Given the description of an element on the screen output the (x, y) to click on. 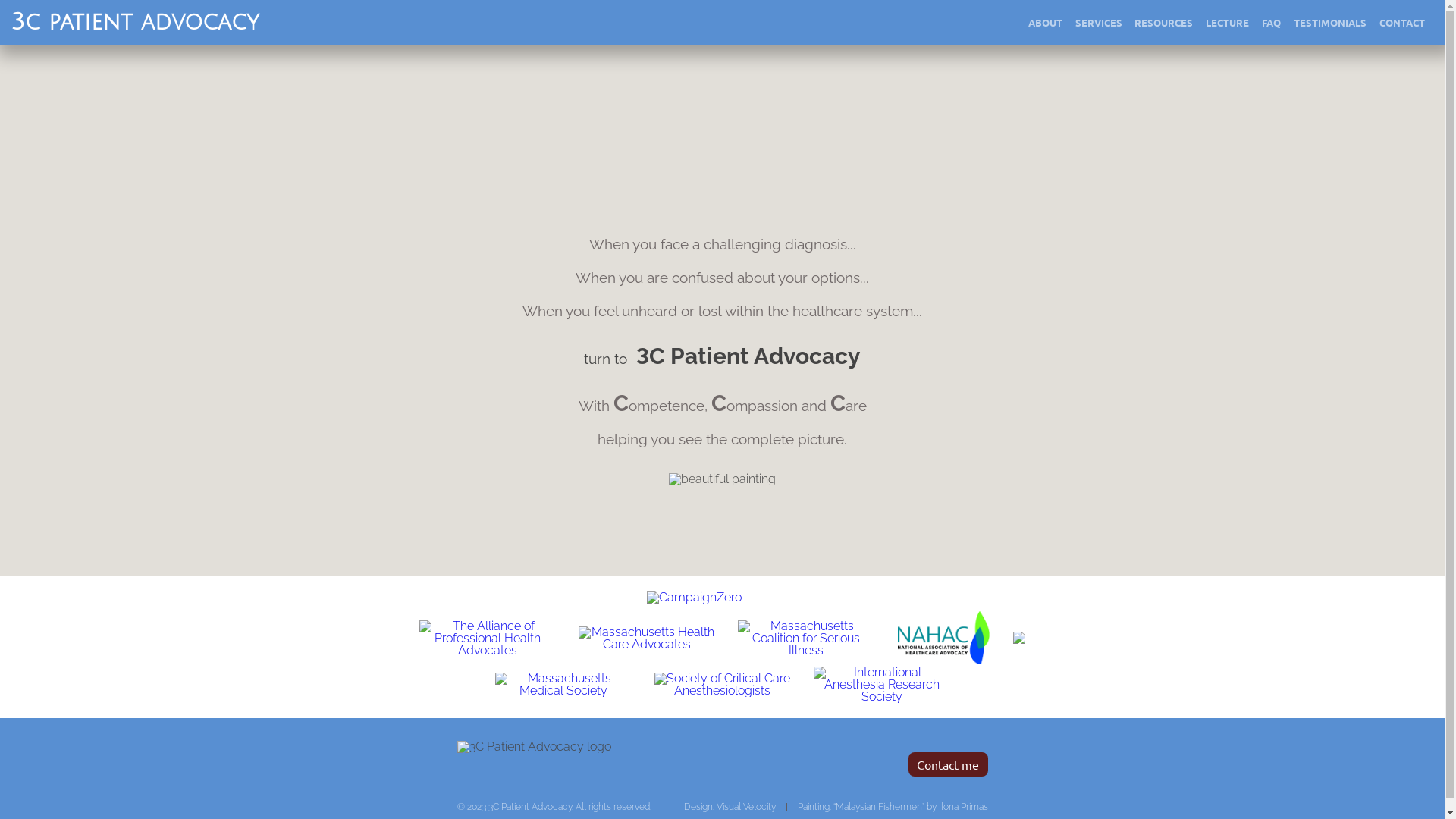
Contact me Element type: text (947, 764)
CONTACT Element type: text (1401, 23)
RESOURCES Element type: text (1163, 23)
ABOUT Element type: text (1045, 23)
FAQ Element type: text (1271, 23)
SERVICES Element type: text (1098, 23)
TESTIMONIALS Element type: text (1329, 23)
3c patient advocacy Element type: text (135, 21)
LECTURE Element type: text (1227, 23)
